Given the description of an element on the screen output the (x, y) to click on. 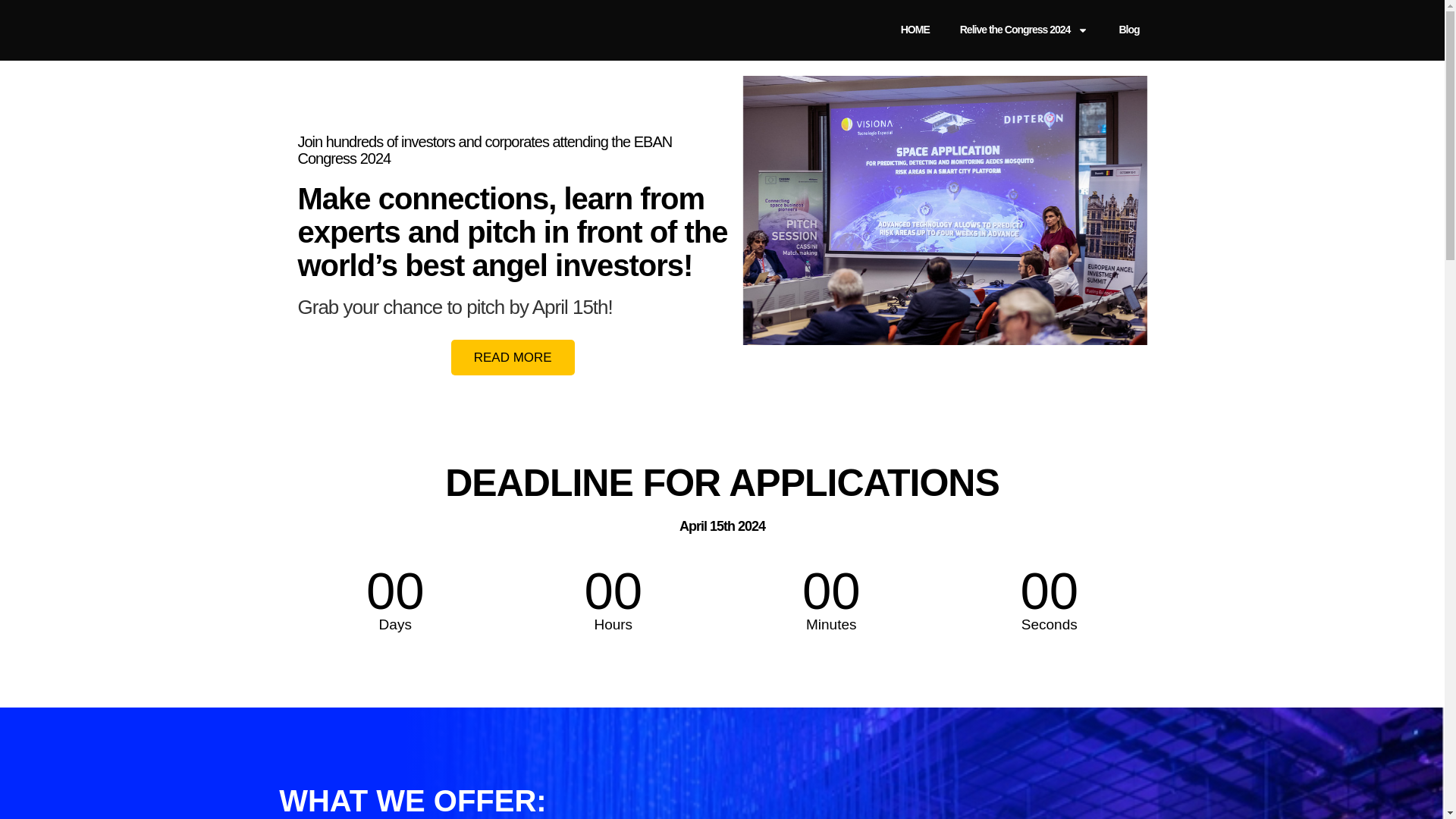
Relive the Congress 2024 (1023, 29)
Blog (1128, 29)
HOME (914, 29)
